Given the description of an element on the screen output the (x, y) to click on. 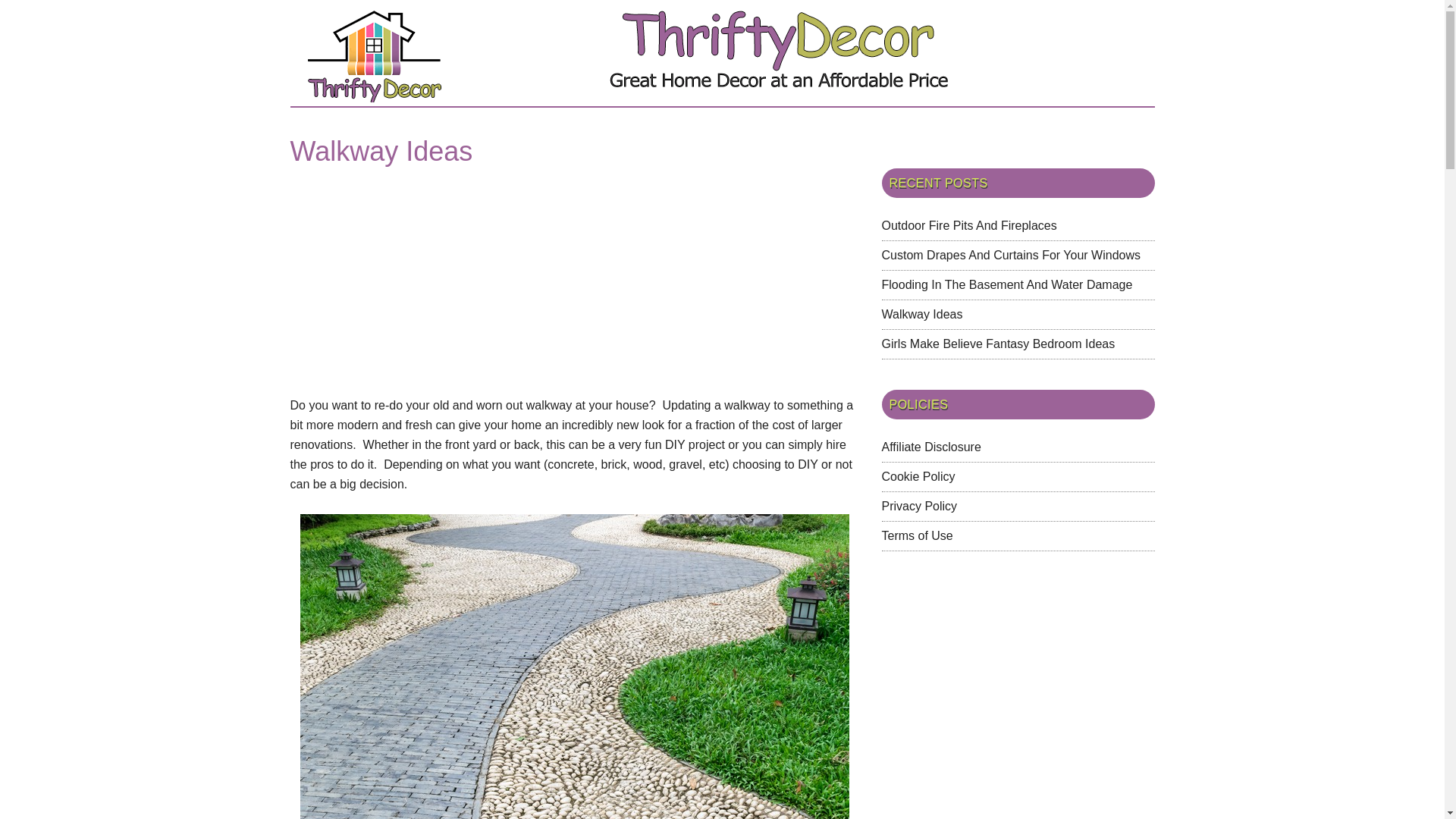
Advertisement (416, 283)
Outdoor Fire Pits And Fireplaces (968, 225)
Cookie Policy (917, 476)
Custom Drapes And Curtains For Your Windows (1010, 254)
Walkway Ideas (921, 314)
Privacy Policy (918, 505)
Terms of Use (916, 535)
Girls Make Believe Fantasy Bedroom Ideas (997, 343)
Thrifty Decor (721, 54)
Flooding In The Basement And Water Damage (1006, 284)
Affiliate Disclosure (929, 446)
